Given the description of an element on the screen output the (x, y) to click on. 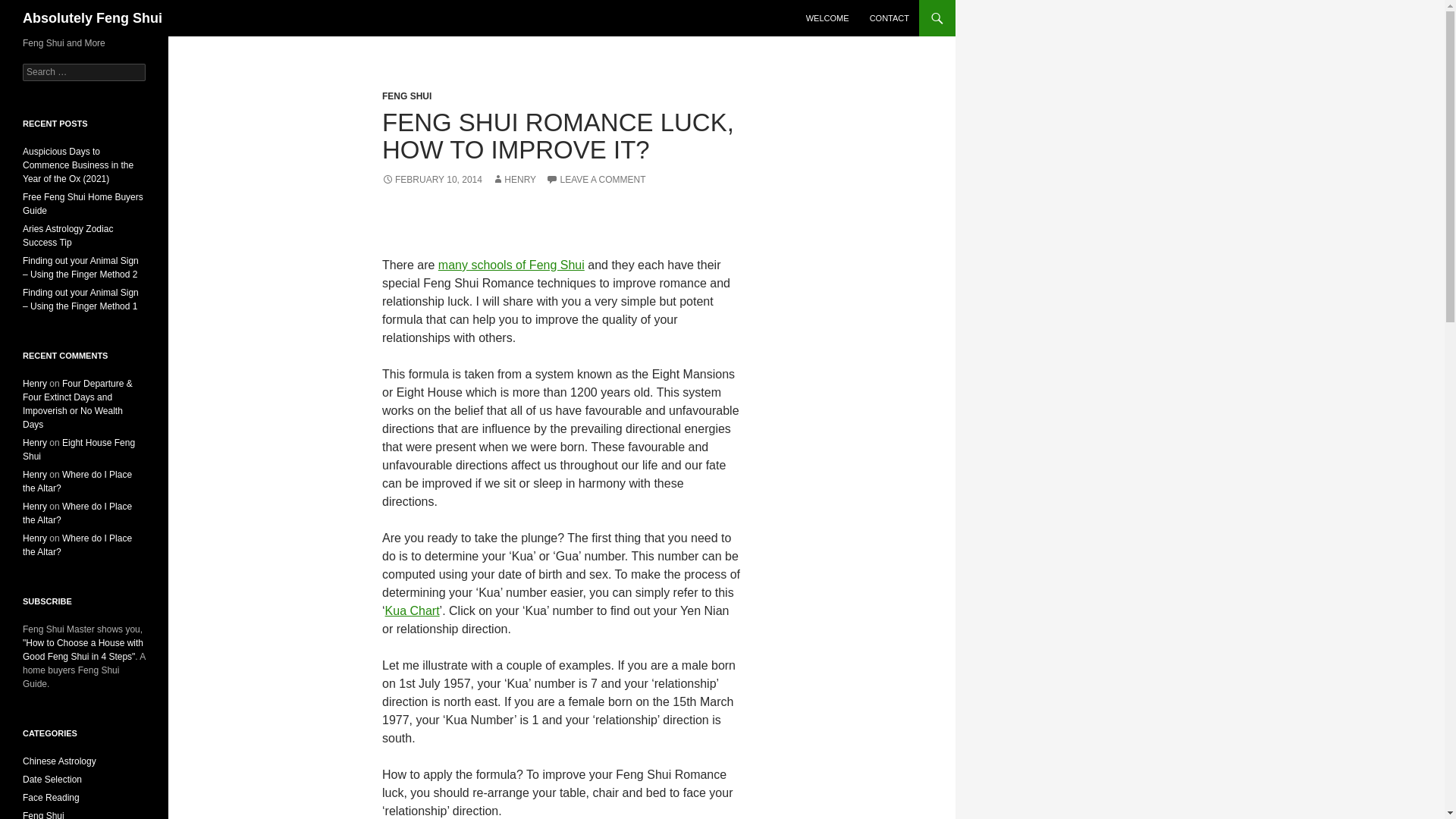
Henry (34, 474)
Date Selection (52, 778)
Henry (34, 506)
Aries Astrology Zodiac Success Tip (68, 235)
Kua Number (412, 610)
Chinese Astrology (59, 760)
Kua Chart (412, 610)
Henry (34, 383)
FENG SHUI (405, 95)
Eight House Feng Shui (79, 449)
